Given the description of an element on the screen output the (x, y) to click on. 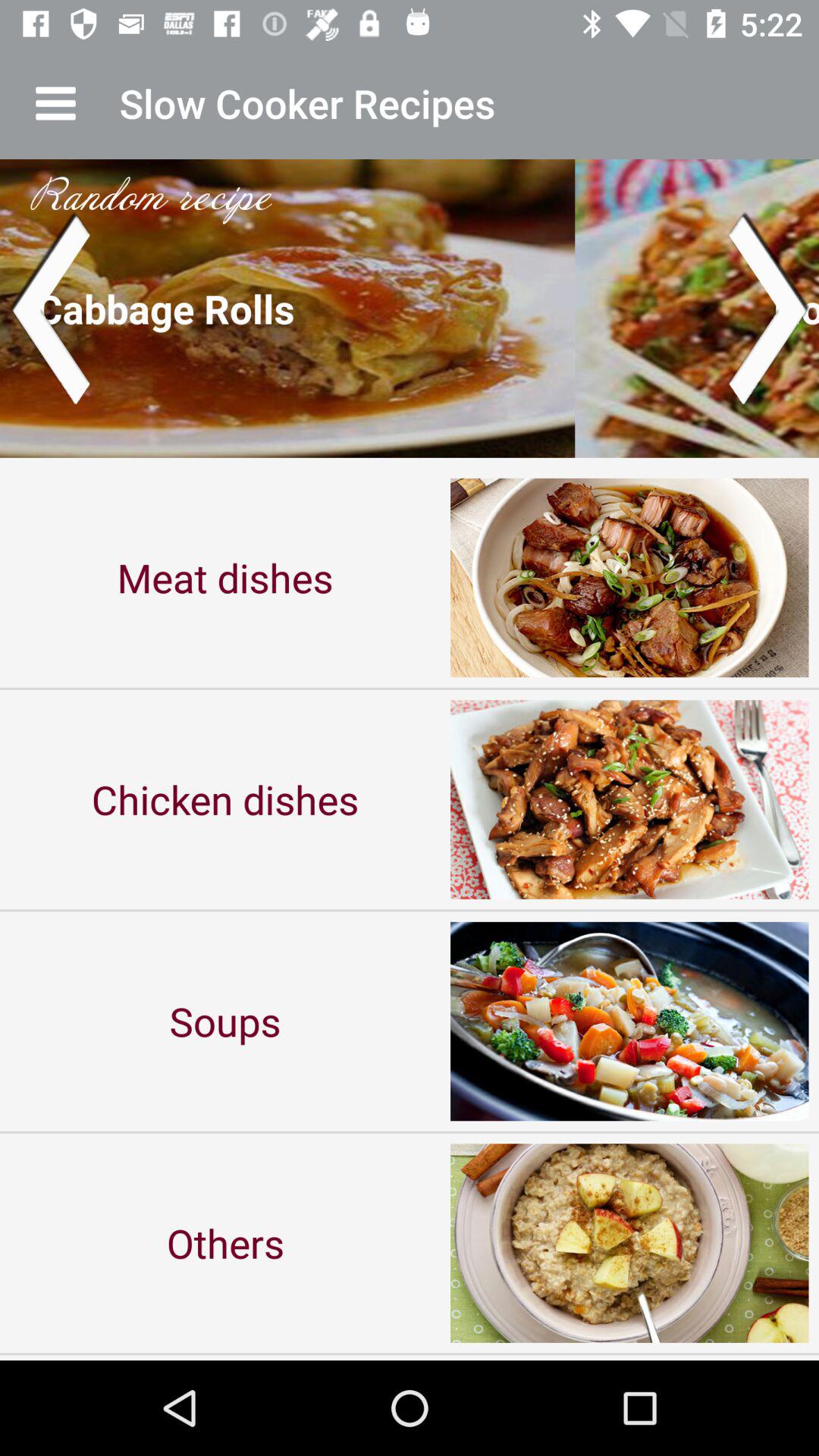
select app next to the slow cooker recipes icon (55, 103)
